Given the description of an element on the screen output the (x, y) to click on. 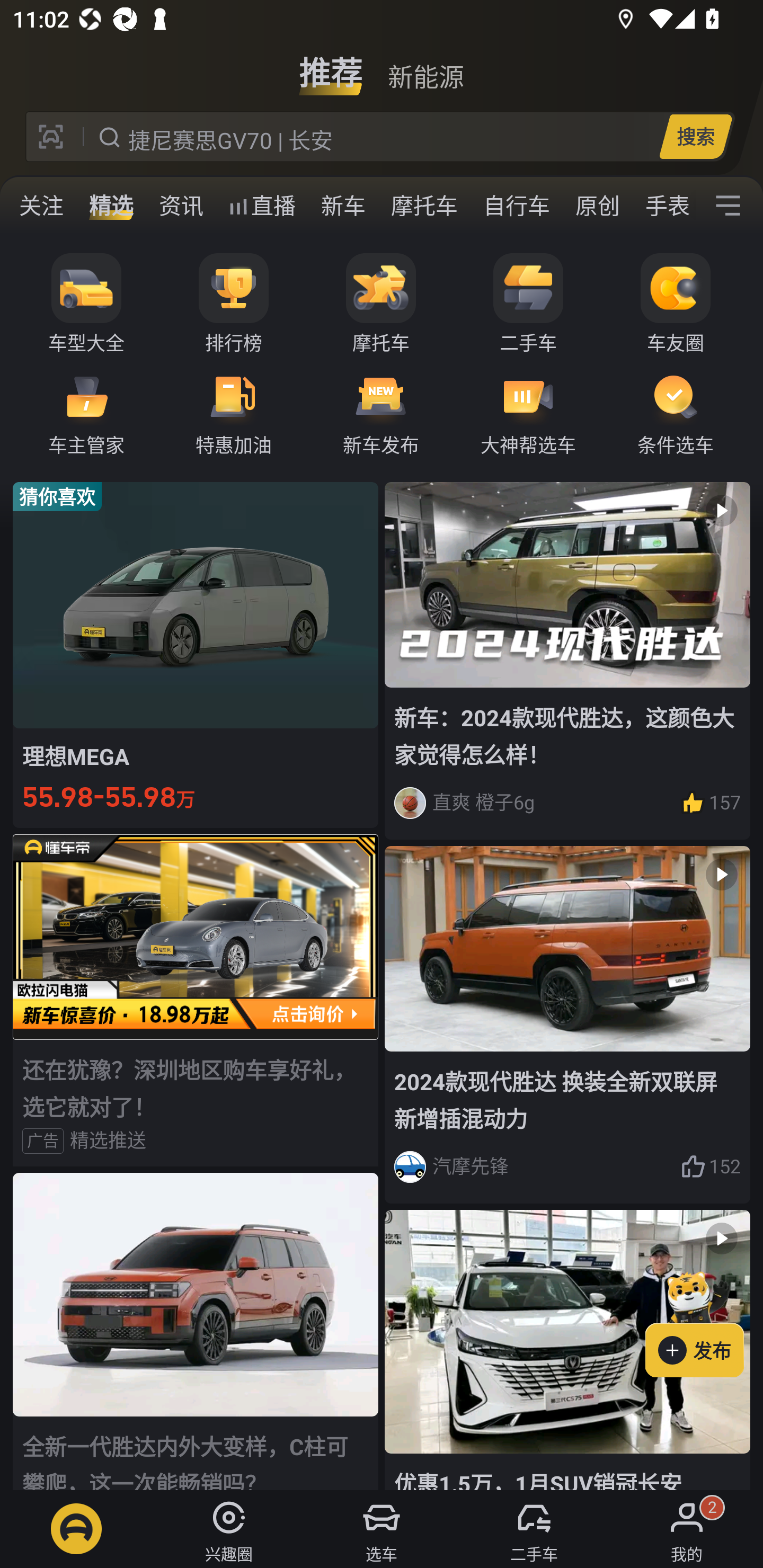
推荐 (330, 65)
新能源 (425, 65)
搜索 (695, 136)
关注 (41, 205)
精选 (111, 205)
资讯 (180, 205)
直播 (261, 205)
新车 (343, 205)
摩托车 (424, 205)
自行车 (516, 205)
原创 (597, 205)
手表 (663, 205)
 (727, 205)
车型大全 (86, 303)
排行榜 (233, 303)
摩托车 (380, 303)
二手车 (528, 303)
车友圈 (675, 303)
车主管家 (86, 412)
特惠加油 (233, 412)
新车发布 (380, 412)
大神帮选车 (528, 412)
条件选车 (675, 412)
猜你喜欢 理想MEGA 55.98-55.98万 (195, 654)
 新车：2024款现代胜达，这颜色大家觉得怎么样！ 直爽 橙子6g 157 (567, 659)
157 (710, 802)
还在犹豫？深圳地区购车享好礼，选它就对了！ 广告 精选推送 (195, 1000)
 2024款现代胜达 换装全新双联屏 新增插混动力 汽摩先锋 152 (567, 1025)
152 (710, 1166)
全新一代胜达内外大变样，C柱可攀爬，这一次能畅销吗？ (195, 1330)
 优惠1.5万，1月SUV销冠长安CS75PLUS为何值得买？性价比是亮点！ (567, 1349)
发布 (704, 1320)
 兴趣圈 (228, 1528)
 选车 (381, 1528)
 二手车 (533, 1528)
 我的 (686, 1528)
